Given the description of an element on the screen output the (x, y) to click on. 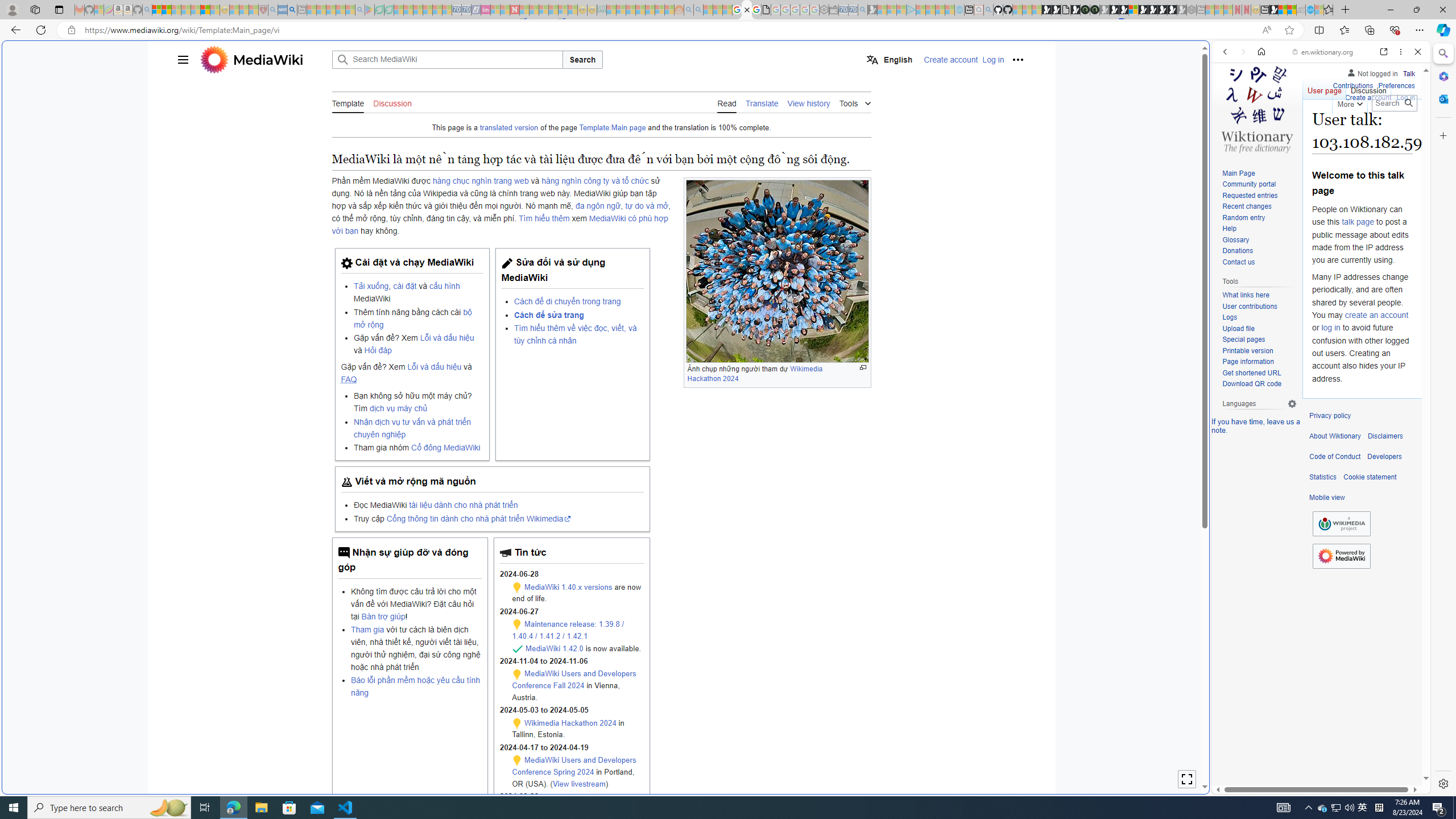
Upload file (1238, 328)
Special pages (1243, 339)
Template (347, 102)
Contributions (1352, 85)
Main menu (182, 59)
More (1349, 101)
Statistics (1322, 477)
translated version (508, 127)
